Given the description of an element on the screen output the (x, y) to click on. 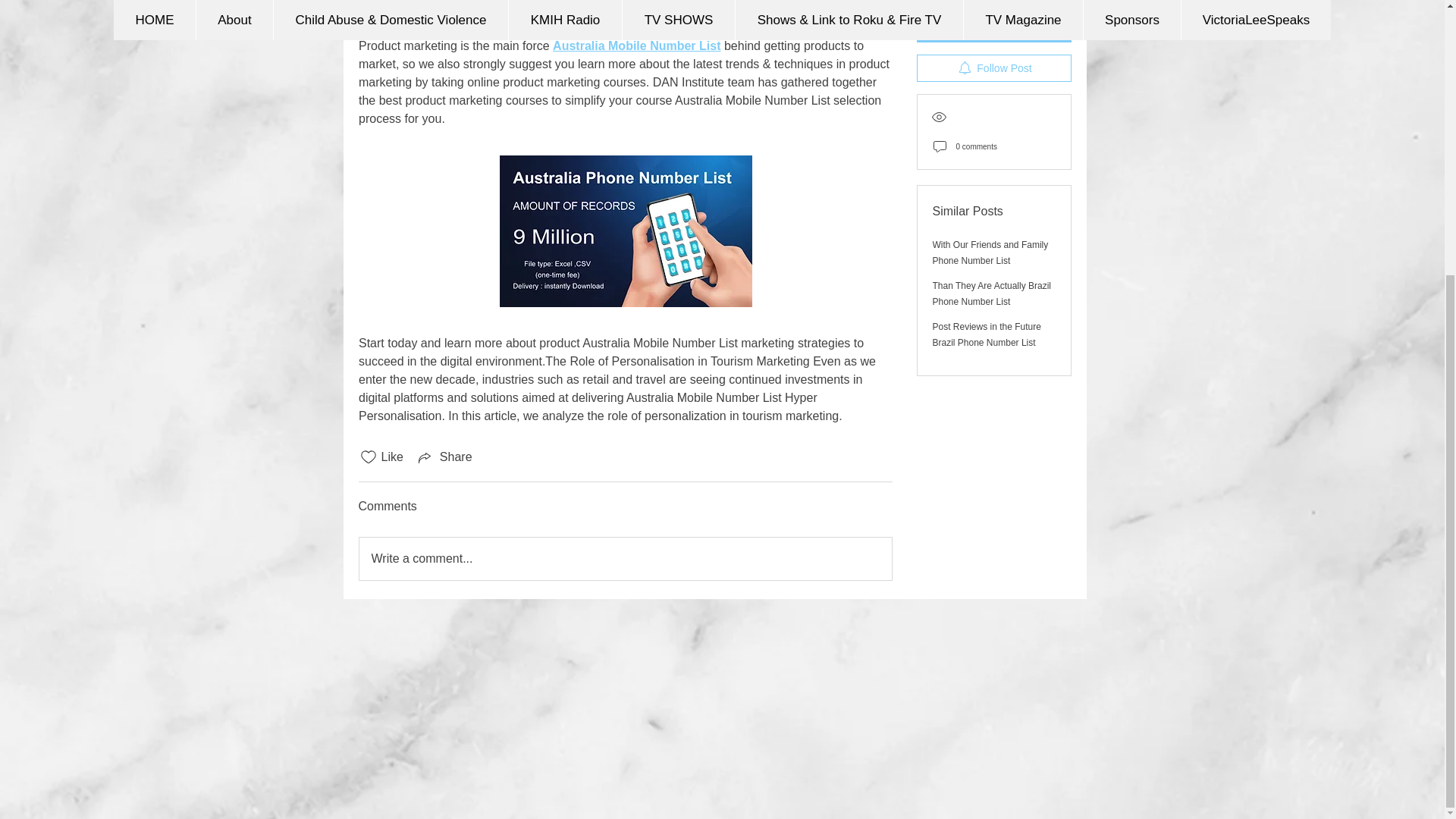
Than They Are Actually Brazil Phone Number List (992, 130)
Australia Mobile Number List (636, 45)
Write a comment... (625, 558)
With Our Friends and Family Phone Number List (990, 89)
Share (442, 456)
Post Reviews in the Future Brazil Phone Number List (987, 171)
